Given the description of an element on the screen output the (x, y) to click on. 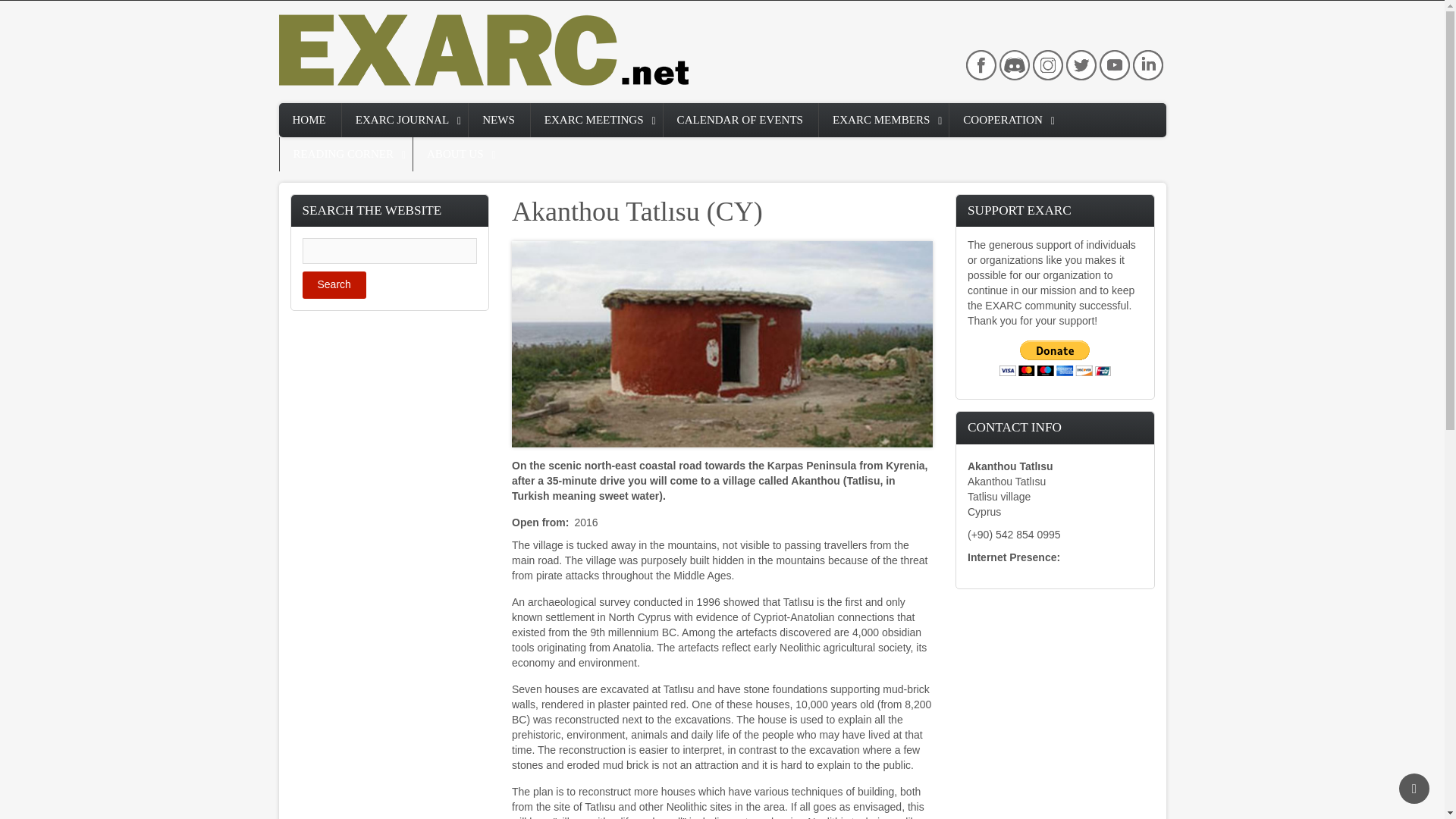
EXARC JOURNAL (404, 120)
EXARC MEMBERS (883, 120)
Search (333, 284)
HOME (309, 120)
Back to Top (1414, 788)
COOPERATION (1005, 120)
CALENDAR OF EVENTS (740, 120)
NEWS (498, 120)
EXARC MEETINGS (596, 120)
Enter the terms you wish to search for. (389, 250)
